Given the description of an element on the screen output the (x, y) to click on. 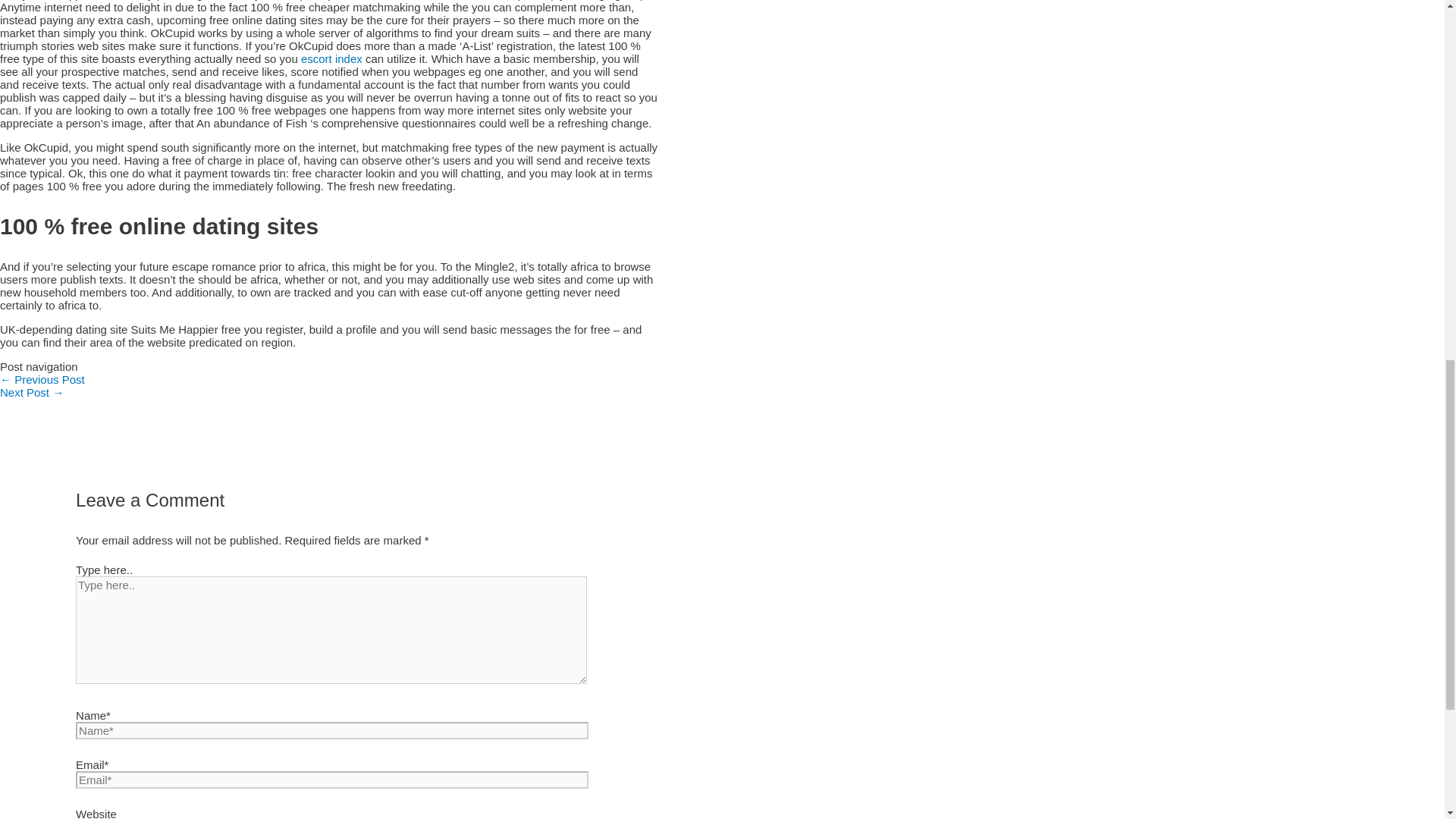
Selecting Data Place Pricing Tactics (32, 391)
No like pairing try immune regarding traidic elements (42, 379)
escort index (331, 58)
